Given the description of an element on the screen output the (x, y) to click on. 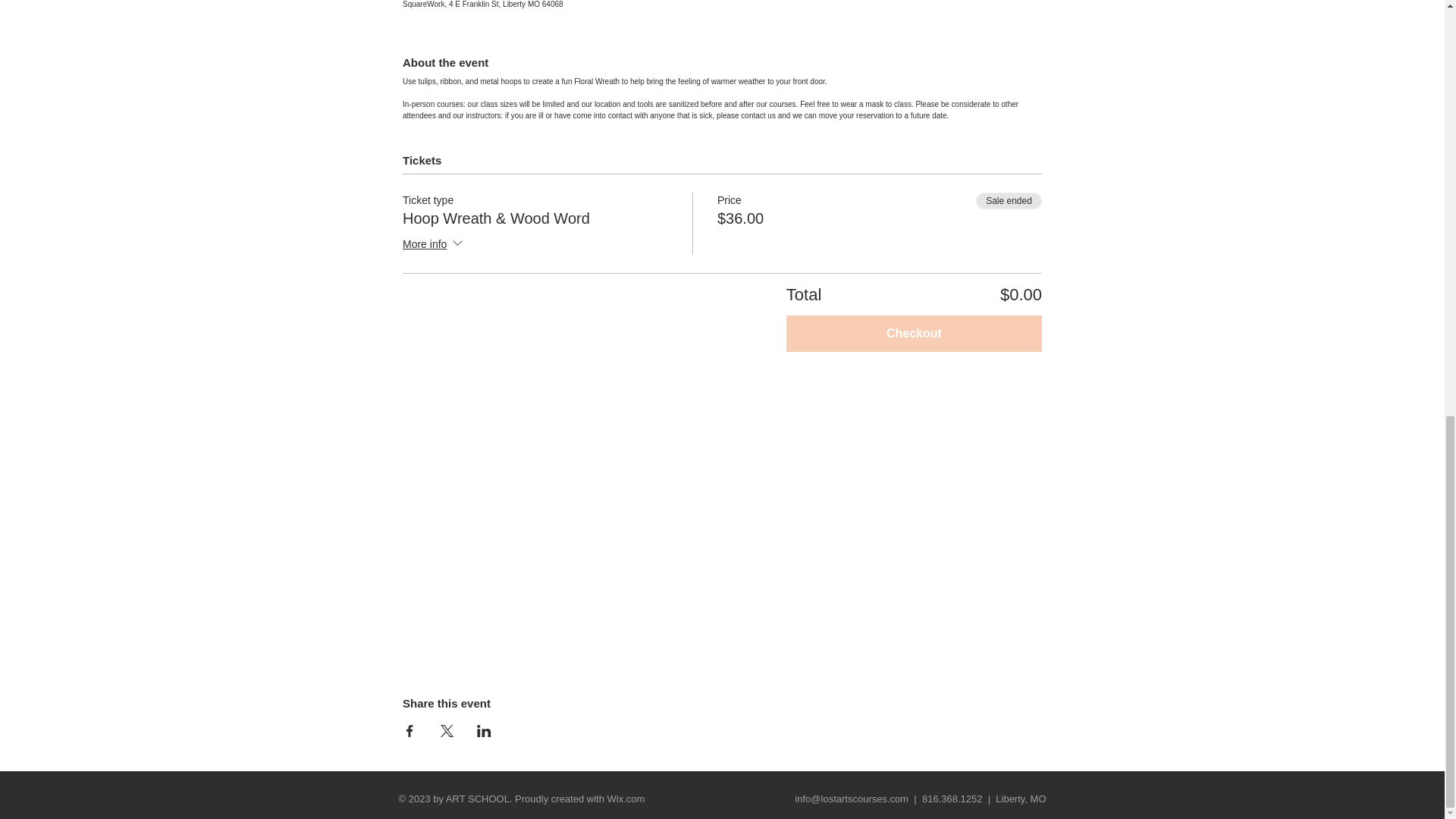
More info (434, 244)
Checkout (914, 333)
Wix.com (626, 798)
